Given the description of an element on the screen output the (x, y) to click on. 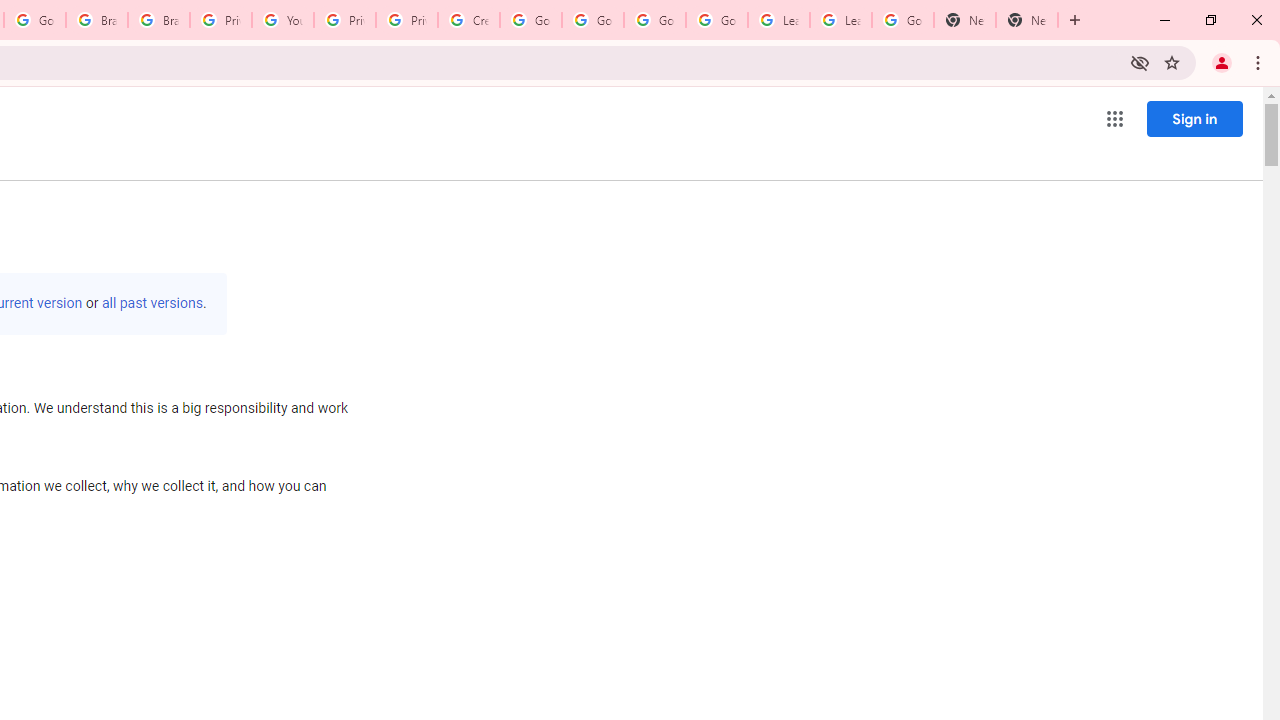
Create your Google Account (468, 20)
Google Account Help (530, 20)
Google Account Help (654, 20)
Brand Resource Center (158, 20)
Google Account (902, 20)
New Tab (1026, 20)
Brand Resource Center (96, 20)
